Given the description of an element on the screen output the (x, y) to click on. 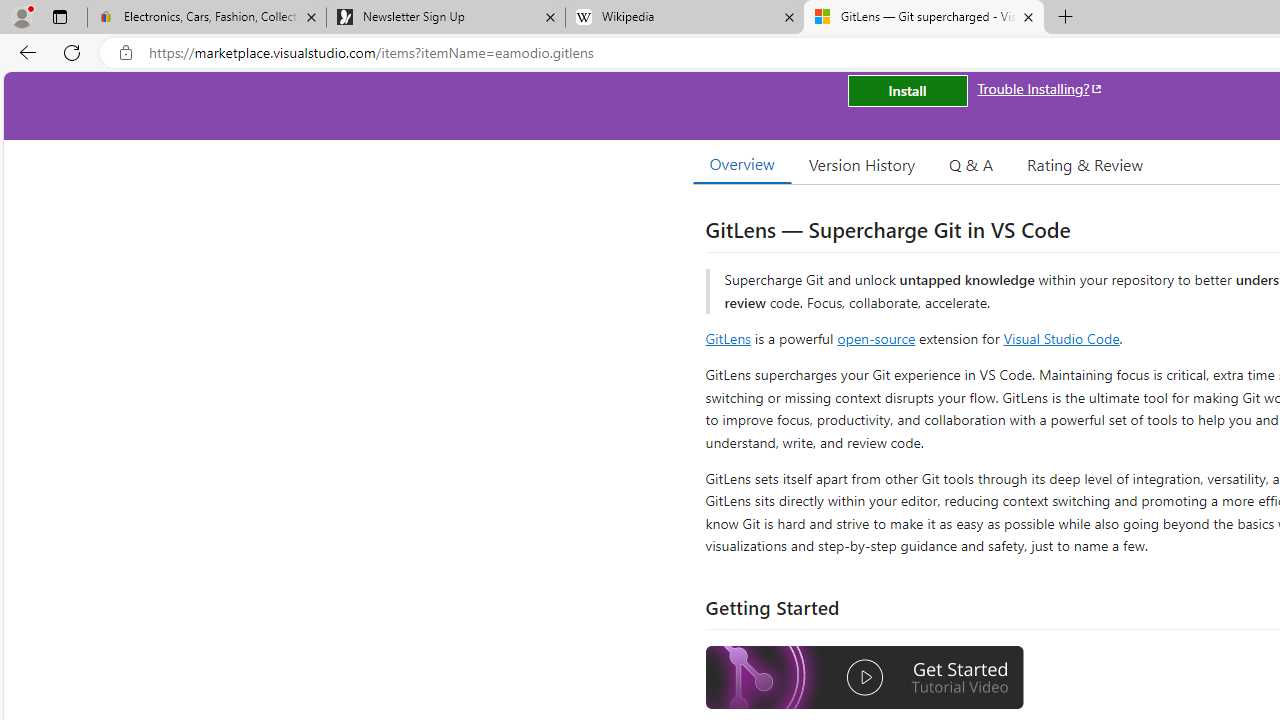
open-source (876, 337)
Q & A (971, 164)
Visual Studio Code (1061, 337)
Newsletter Sign Up (445, 17)
Rating & Review (1084, 164)
Overview (742, 164)
Install (907, 90)
